Given the description of an element on the screen output the (x, y) to click on. 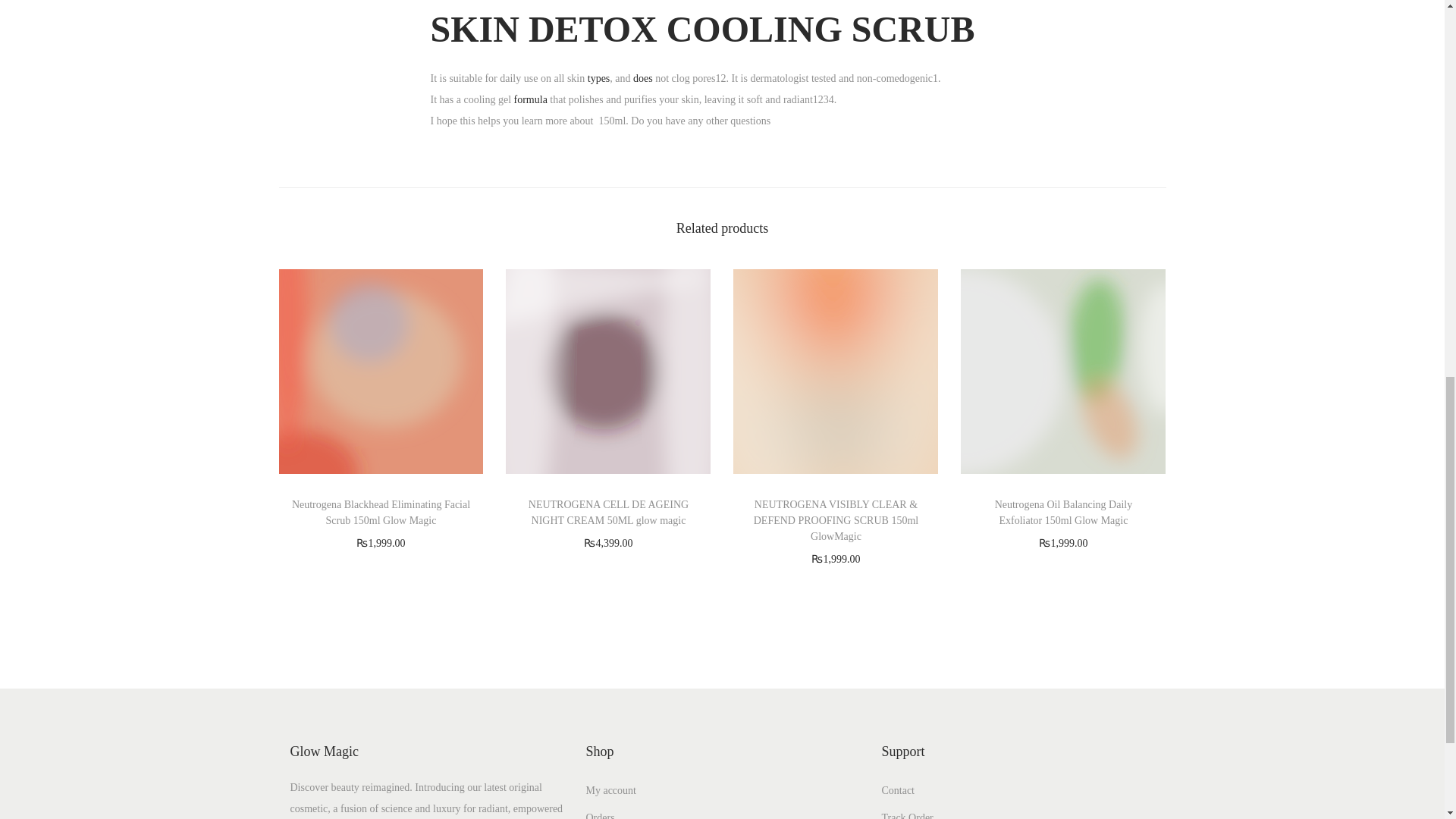
types (599, 78)
does (642, 78)
